Given the description of an element on the screen output the (x, y) to click on. 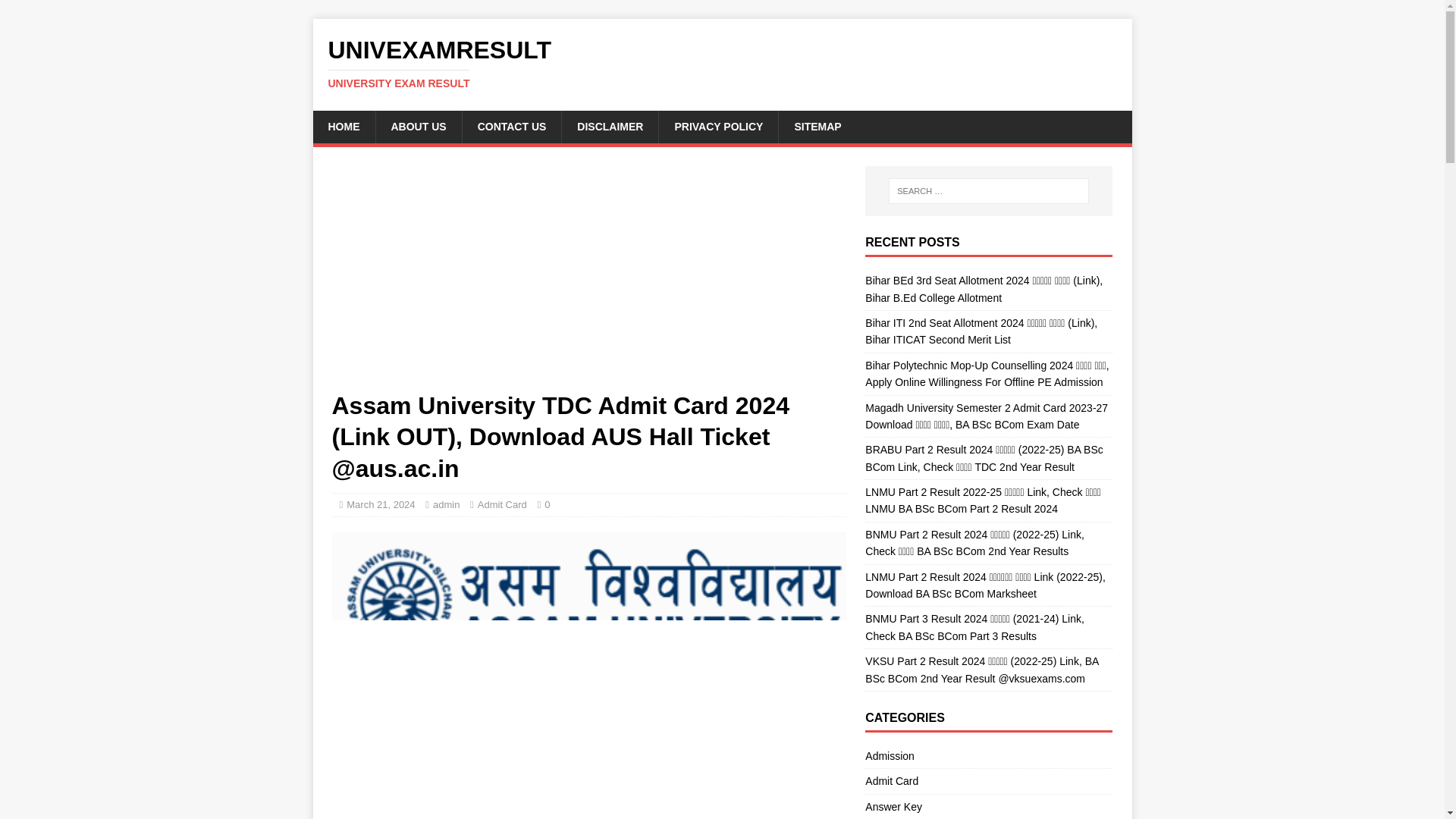
Admit Card (502, 504)
admin (446, 504)
March 21, 2024 (721, 63)
HOME (380, 504)
Advertisement (343, 126)
Advertisement (588, 800)
DISCLAIMER (588, 277)
Search (609, 126)
PRIVACY POLICY (56, 11)
